Given the description of an element on the screen output the (x, y) to click on. 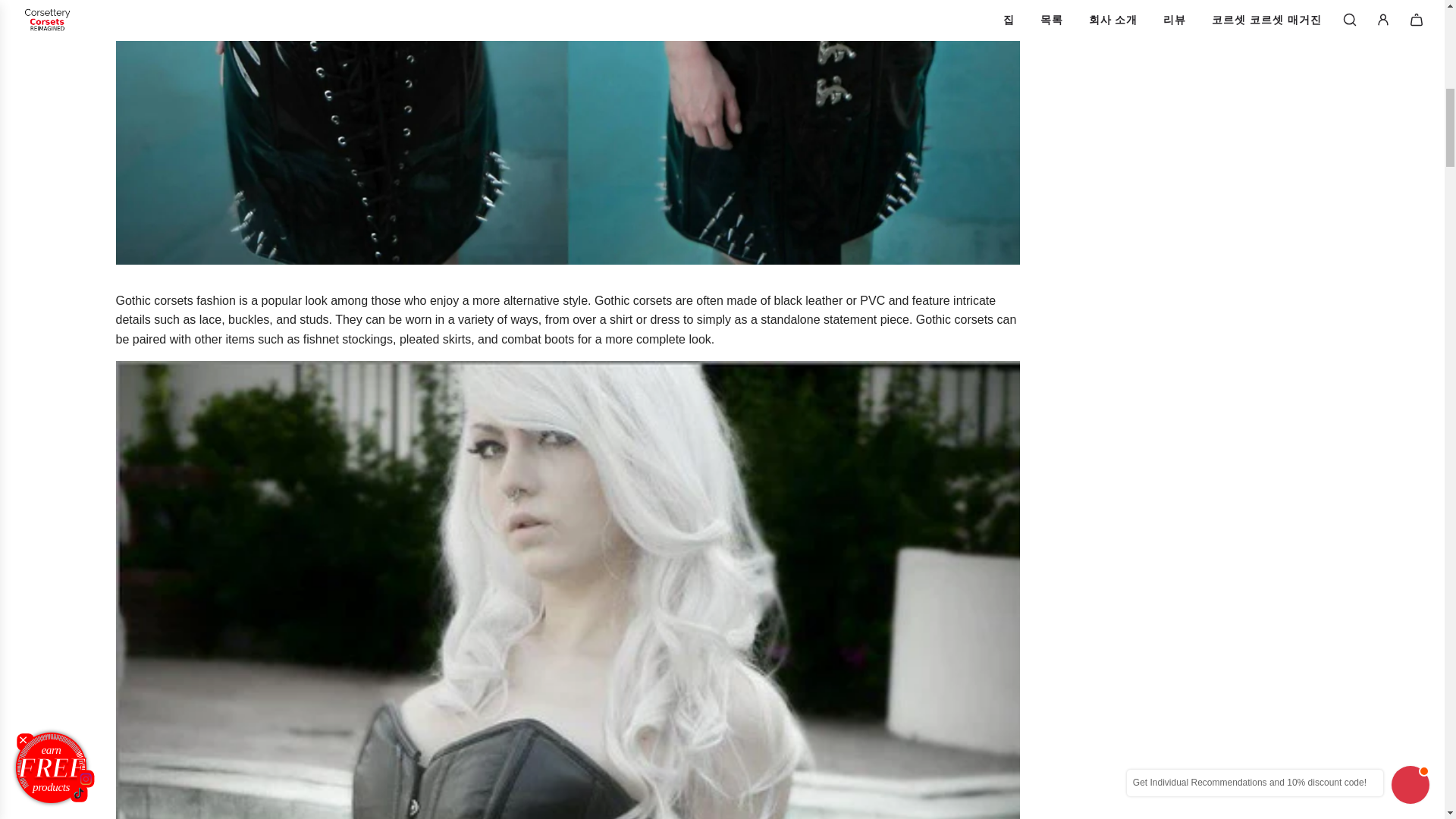
gothic corsets (153, 300)
